Given the description of an element on the screen output the (x, y) to click on. 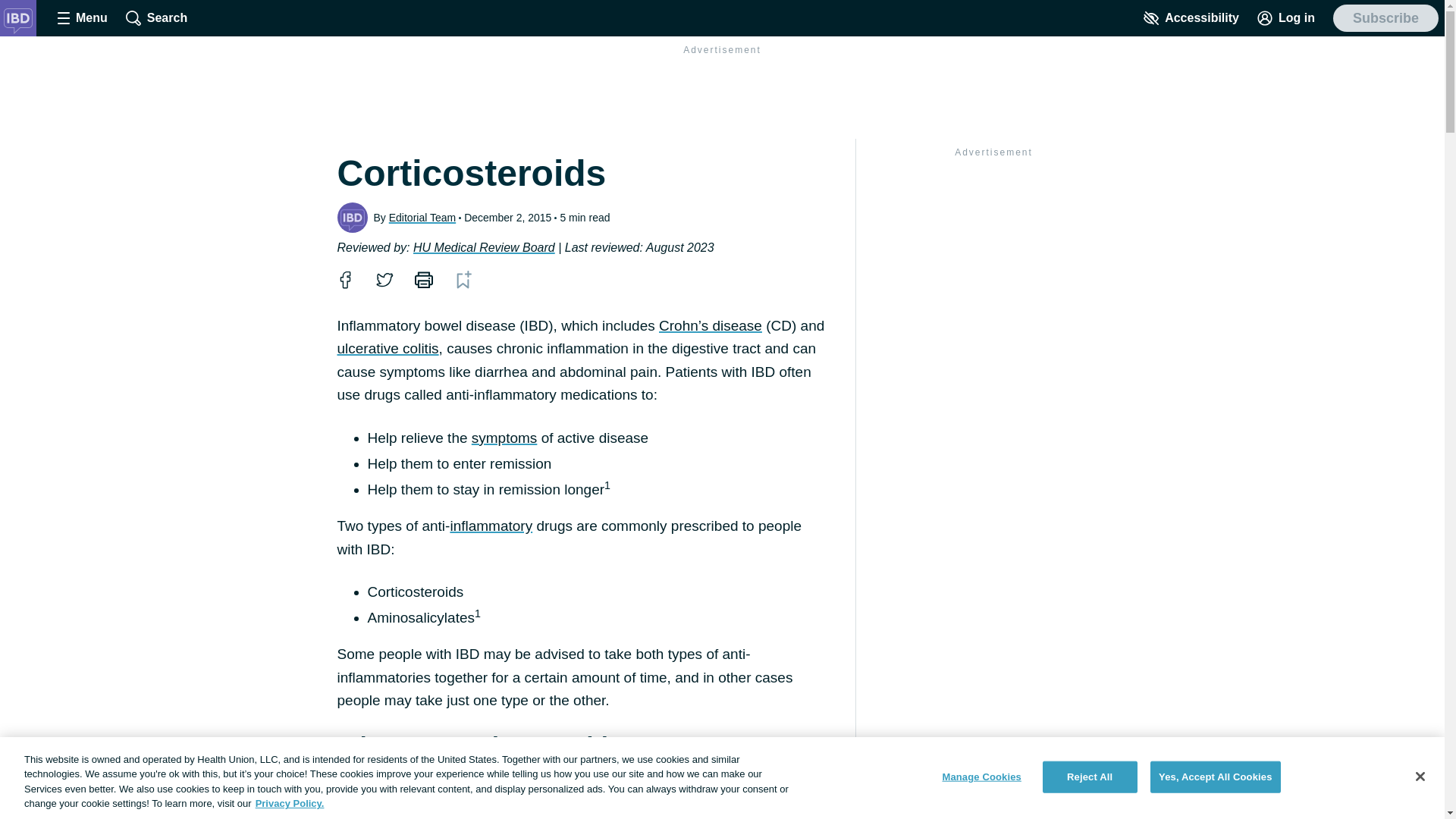
print page (422, 280)
Menu (82, 18)
3rd party ad content (721, 94)
Share to Twitter (383, 280)
Share to Facebook (343, 280)
Bookmark for later (461, 280)
3rd party ad content (992, 257)
